Given the description of an element on the screen output the (x, y) to click on. 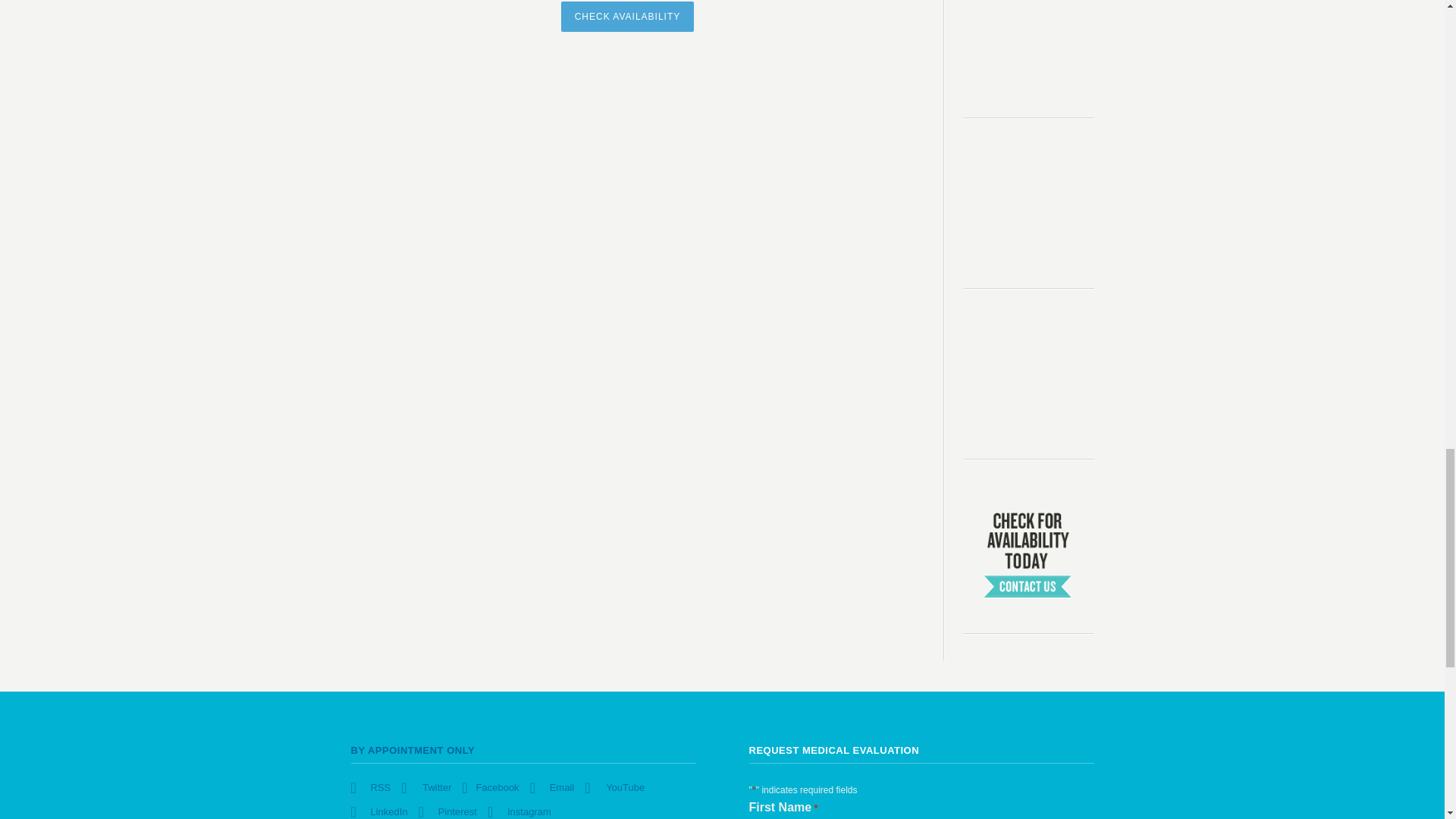
Email (552, 787)
LinkedIn (379, 811)
YouTube (615, 787)
RSS Feed (370, 787)
Instagram (520, 811)
Facebook (492, 787)
Pinterest (449, 811)
Twitter (426, 787)
